Given the description of an element on the screen output the (x, y) to click on. 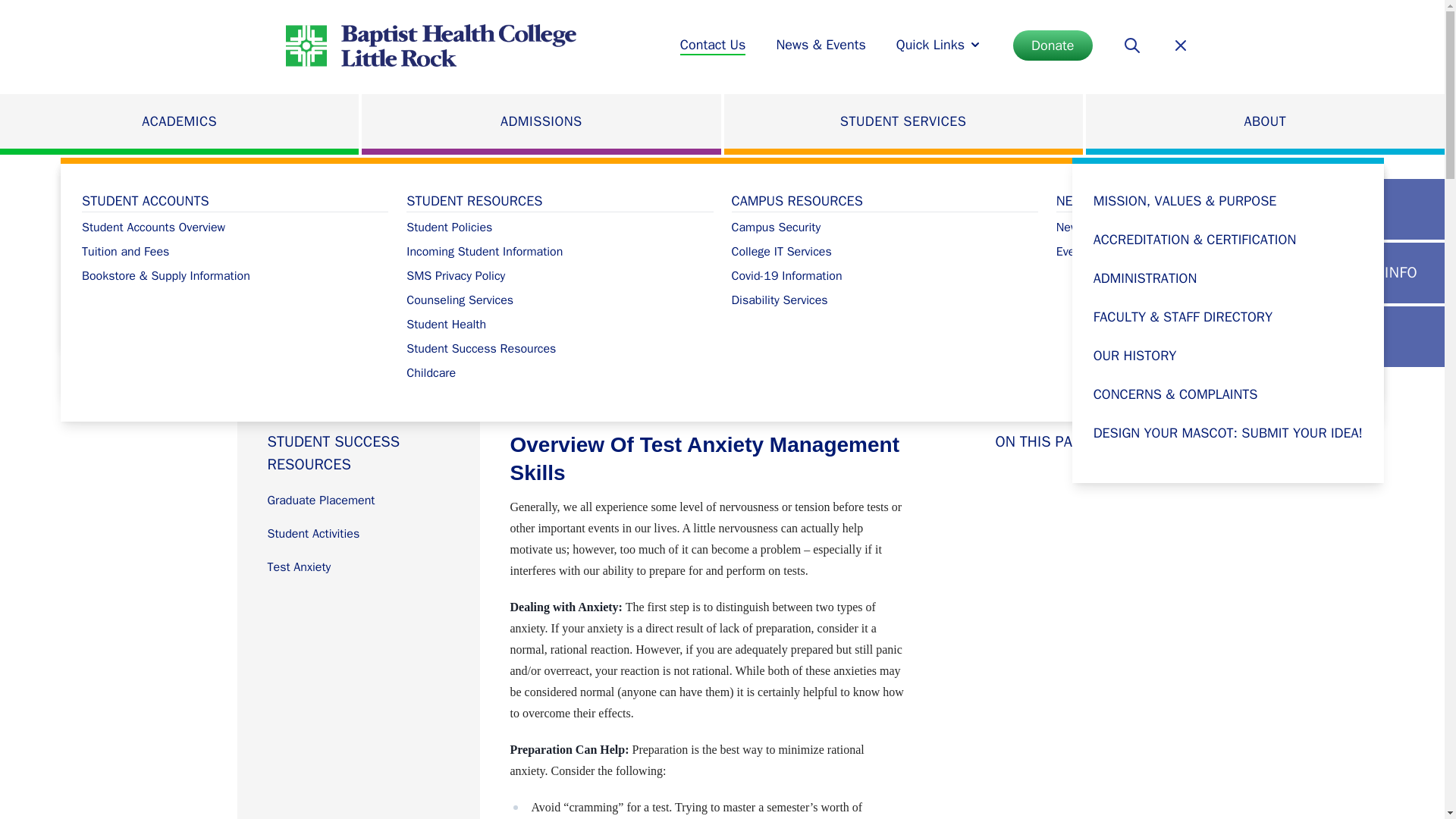
Quick Links (939, 45)
Donate (1052, 45)
Contact Us (712, 45)
